Given the description of an element on the screen output the (x, y) to click on. 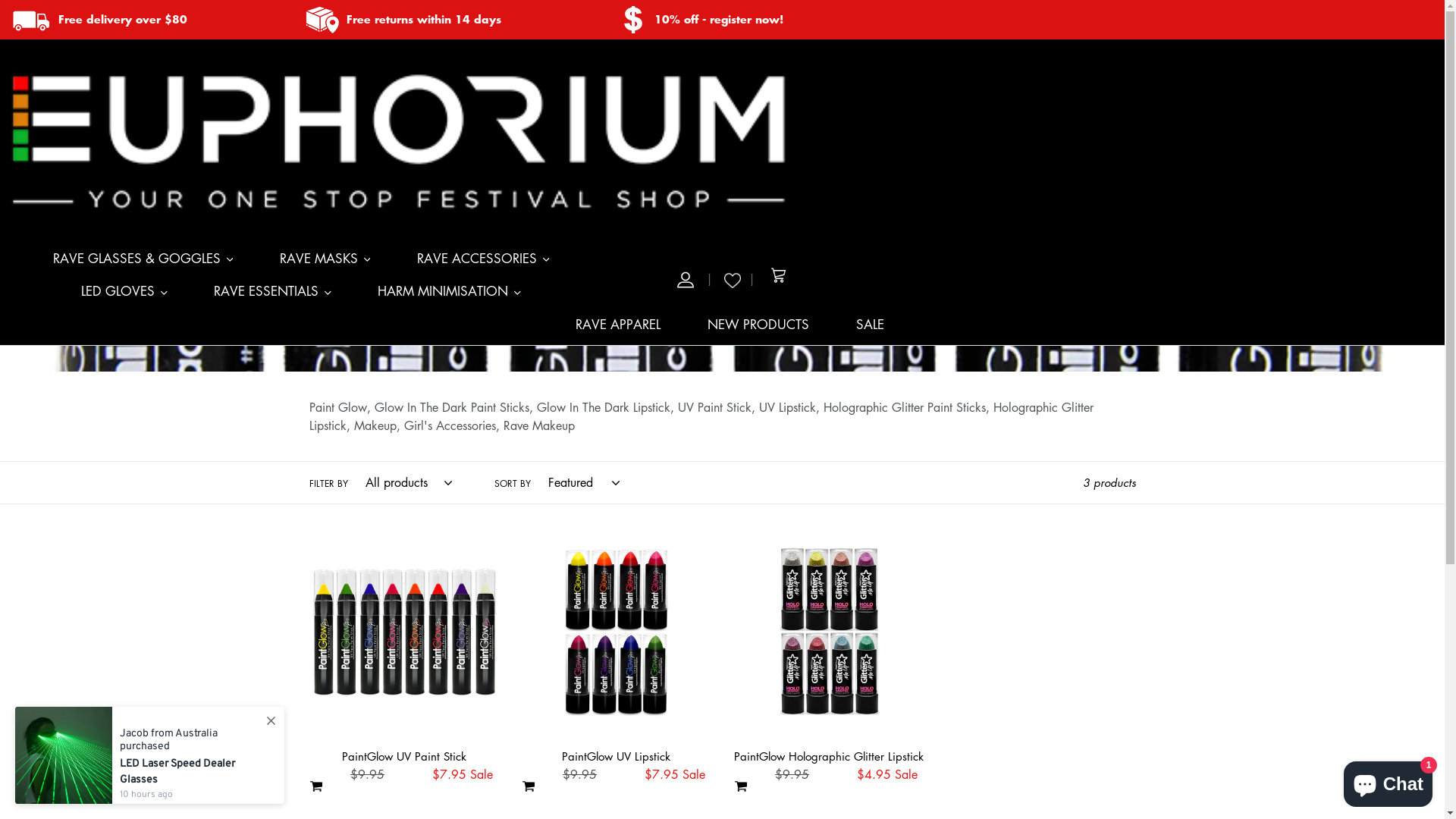
PaintGlow Holographic Glitter Lipstick Element type: text (828, 648)
Shopify online store chat Element type: hover (1388, 780)
SALE Element type: text (870, 328)
10% off - register now! Element type: text (718, 19)
Cart Element type: text (778, 279)
PaintGlow UV Lipstick Element type: text (616, 648)
NEW PRODUCTS Element type: text (758, 328)
PaintGlow UV Paint Stick Element type: text (403, 648)
RAVE APPAREL Element type: text (617, 328)
